Given the description of an element on the screen output the (x, y) to click on. 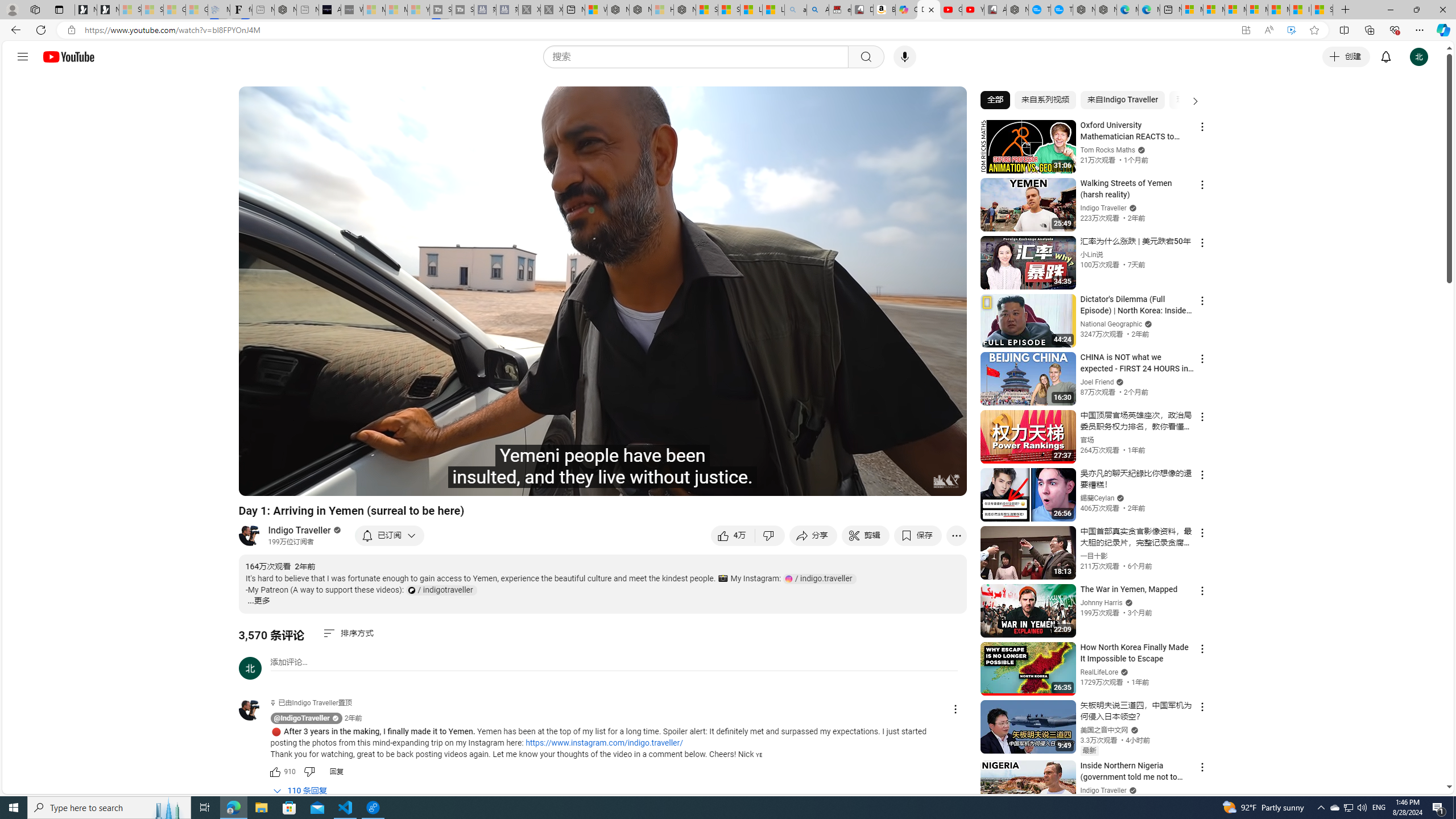
YouTube Kids - An App Created for Kids to Explore Content (972, 9)
Enhance video (1291, 29)
Indigo Traveller (299, 530)
What's the best AI voice generator? - voice.ai - Sleeping (352, 9)
Microsoft Start Sports - Sleeping (374, 9)
